Given the description of an element on the screen output the (x, y) to click on. 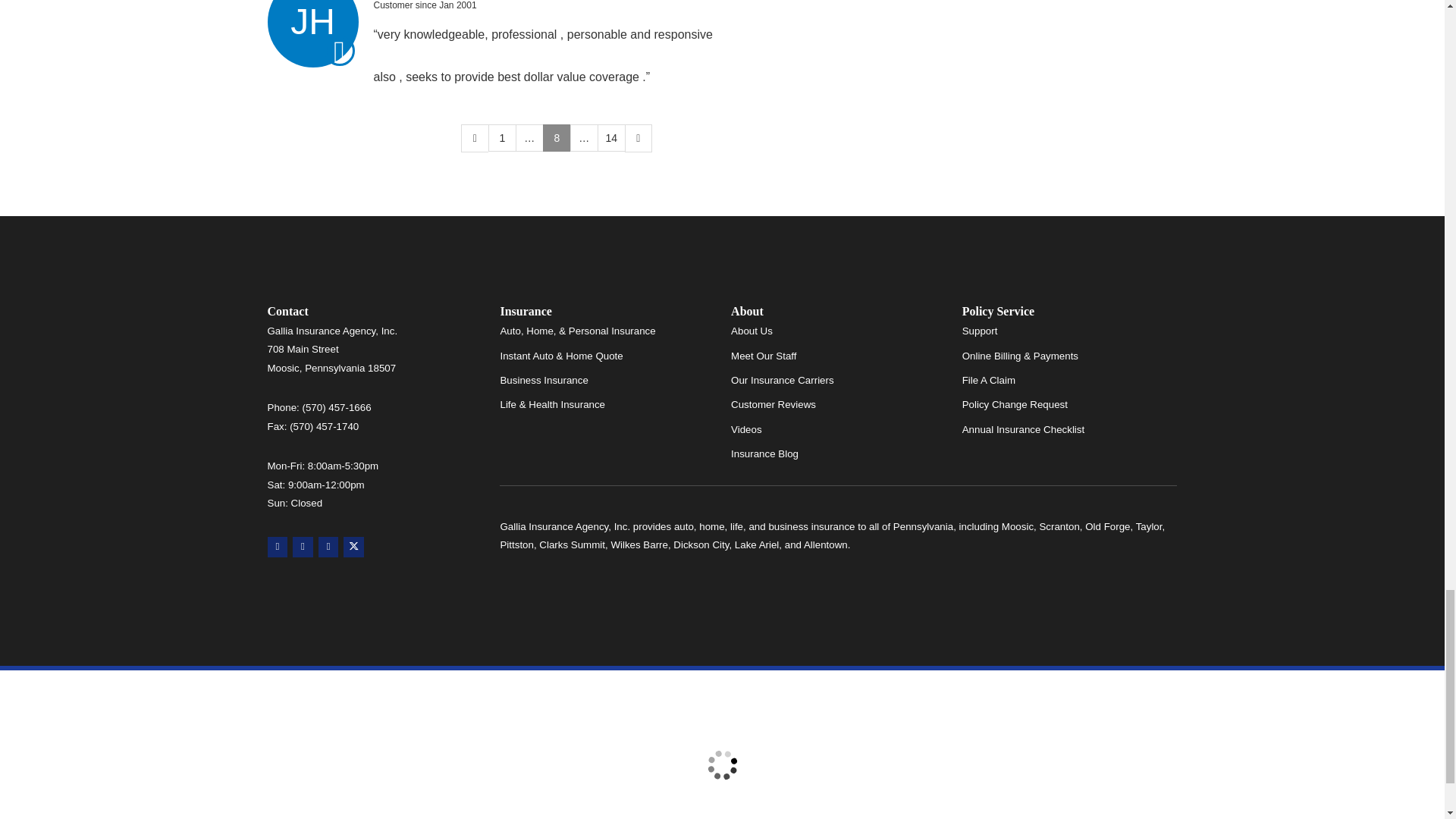
Yelp (302, 547)
Facebook (328, 547)
X (353, 547)
Google Maps (276, 547)
